Given the description of an element on the screen output the (x, y) to click on. 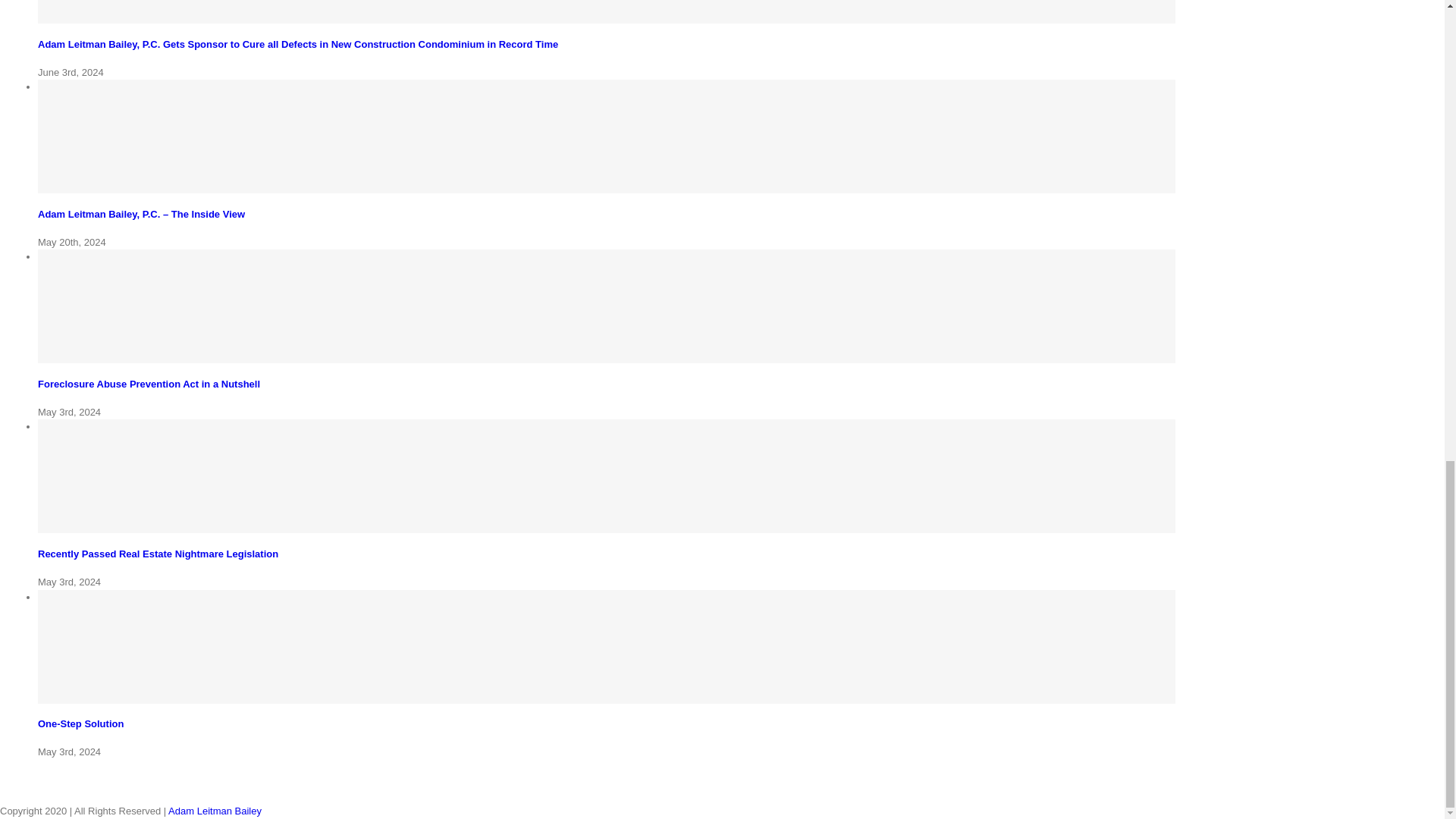
Foreclosure Abuse Prevention Act in a Nutshell (148, 383)
Foreclosure Abuse Prevention Act in a Nutshell (148, 383)
One-Step Solution (80, 723)
One-Step Solution (80, 723)
Recently Passed Real Estate Nightmare Legislation (157, 553)
Recently Passed Real Estate Nightmare Legislation (157, 553)
